Given the description of an element on the screen output the (x, y) to click on. 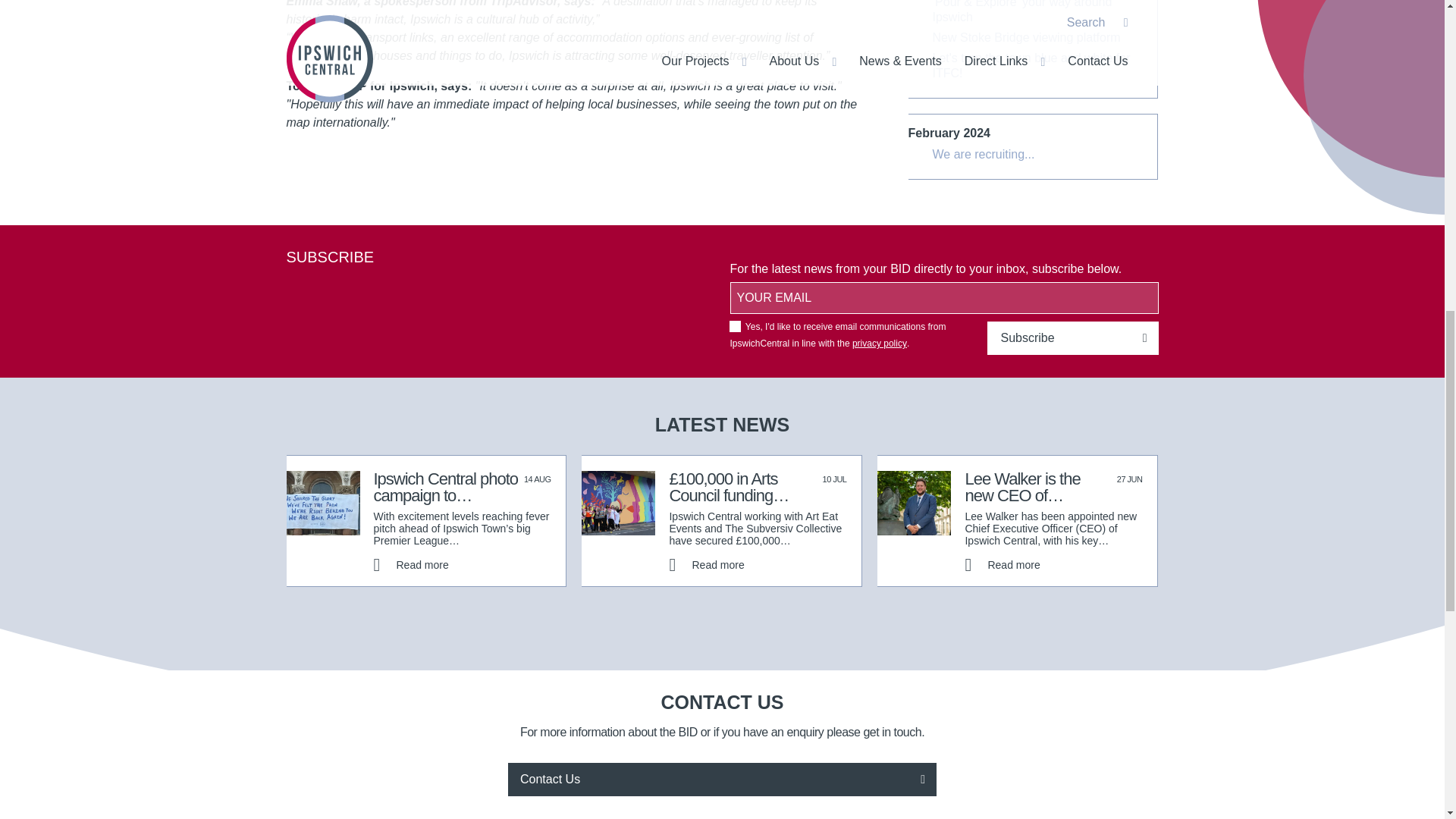
New Stoke Bridge viewing platform (1027, 37)
Subscribe (1072, 337)
Let's turn the town blue and white for ITFC! (1040, 65)
privacy policy (879, 343)
yes (735, 326)
Lee Walker is the new CEO of Ipswich Central (1001, 564)
We are recruiting... (984, 154)
We are recruiting... (984, 154)
New Stoke Bridge viewing platform (1027, 37)
